Given the description of an element on the screen output the (x, y) to click on. 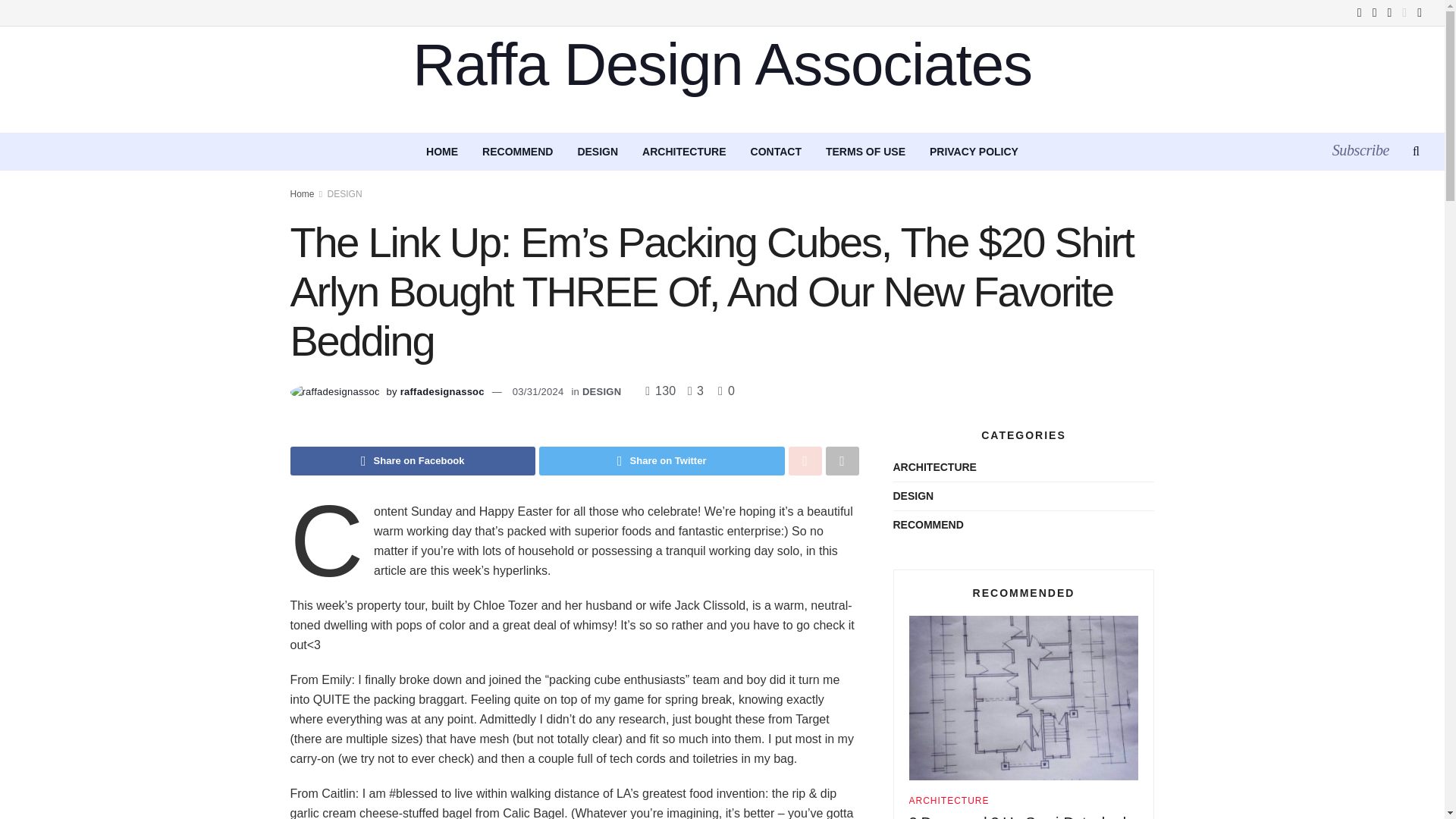
DESIGN (597, 151)
HOME (441, 151)
DESIGN (344, 194)
DESIGN (601, 391)
TERMS OF USE (865, 151)
raffadesignassoc (442, 391)
Home (301, 194)
3 (691, 390)
0 (726, 390)
PRIVACY POLICY (973, 151)
